Given the description of an element on the screen output the (x, y) to click on. 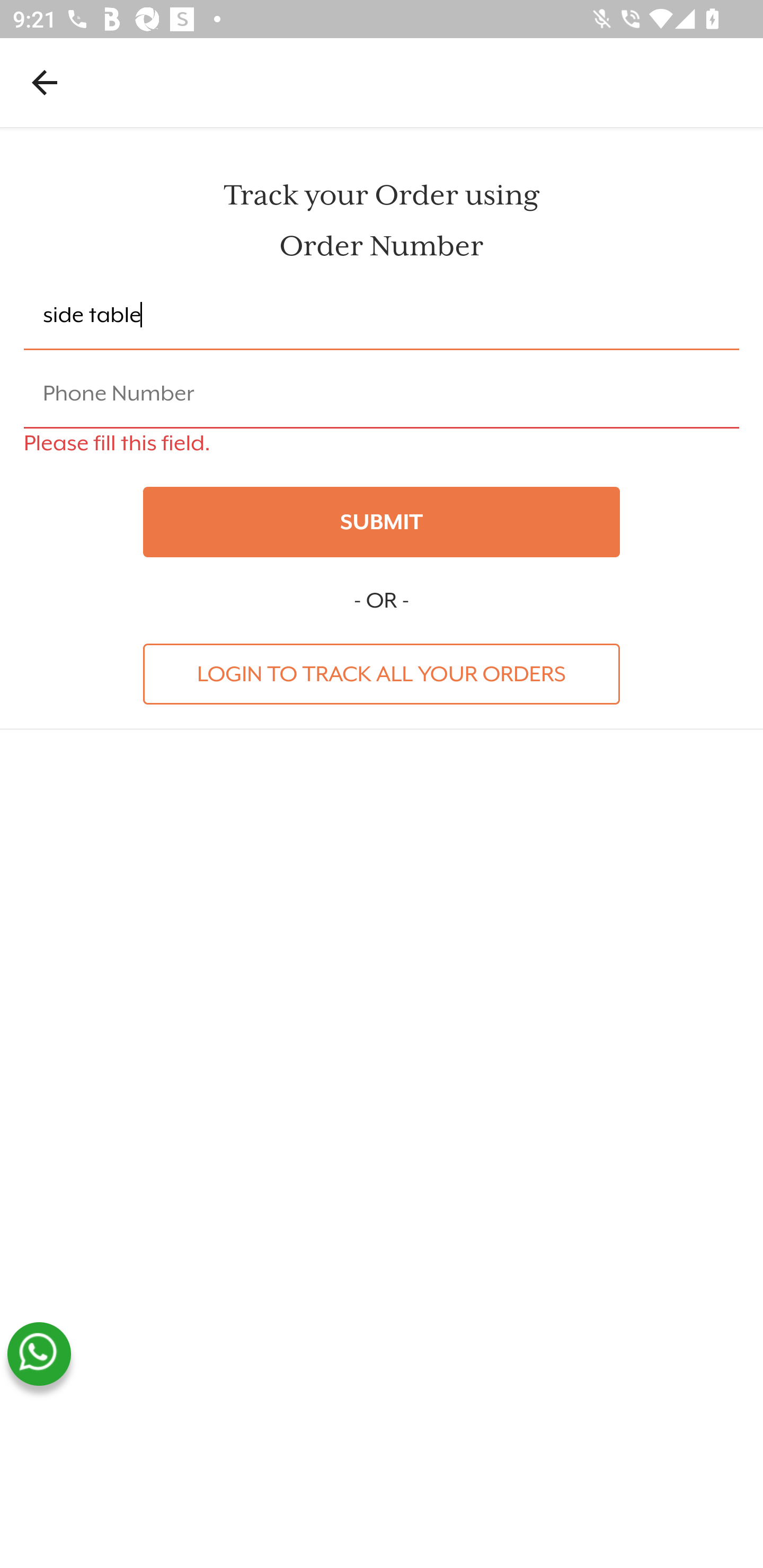
Navigate up (44, 82)
side table (381, 315)
SUBMIT (381, 522)
LOGIN TO TRACK ALL YOUR ORDERS (381, 673)
whatsapp (38, 1353)
